Given the description of an element on the screen output the (x, y) to click on. 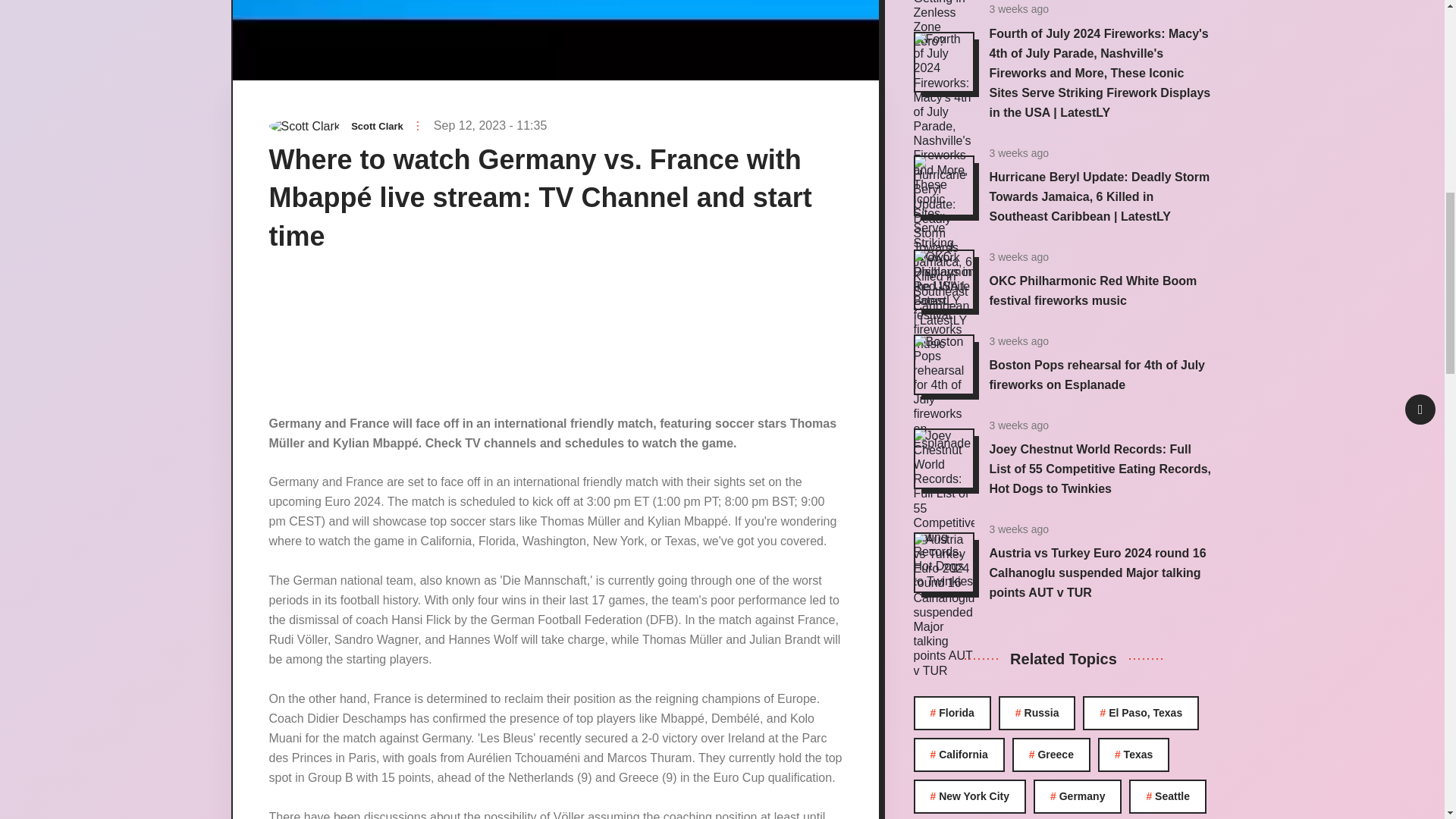
OKC Philharmonic Red White Boom festival fireworks music (1092, 290)
Scott Clark (376, 125)
